Given the description of an element on the screen output the (x, y) to click on. 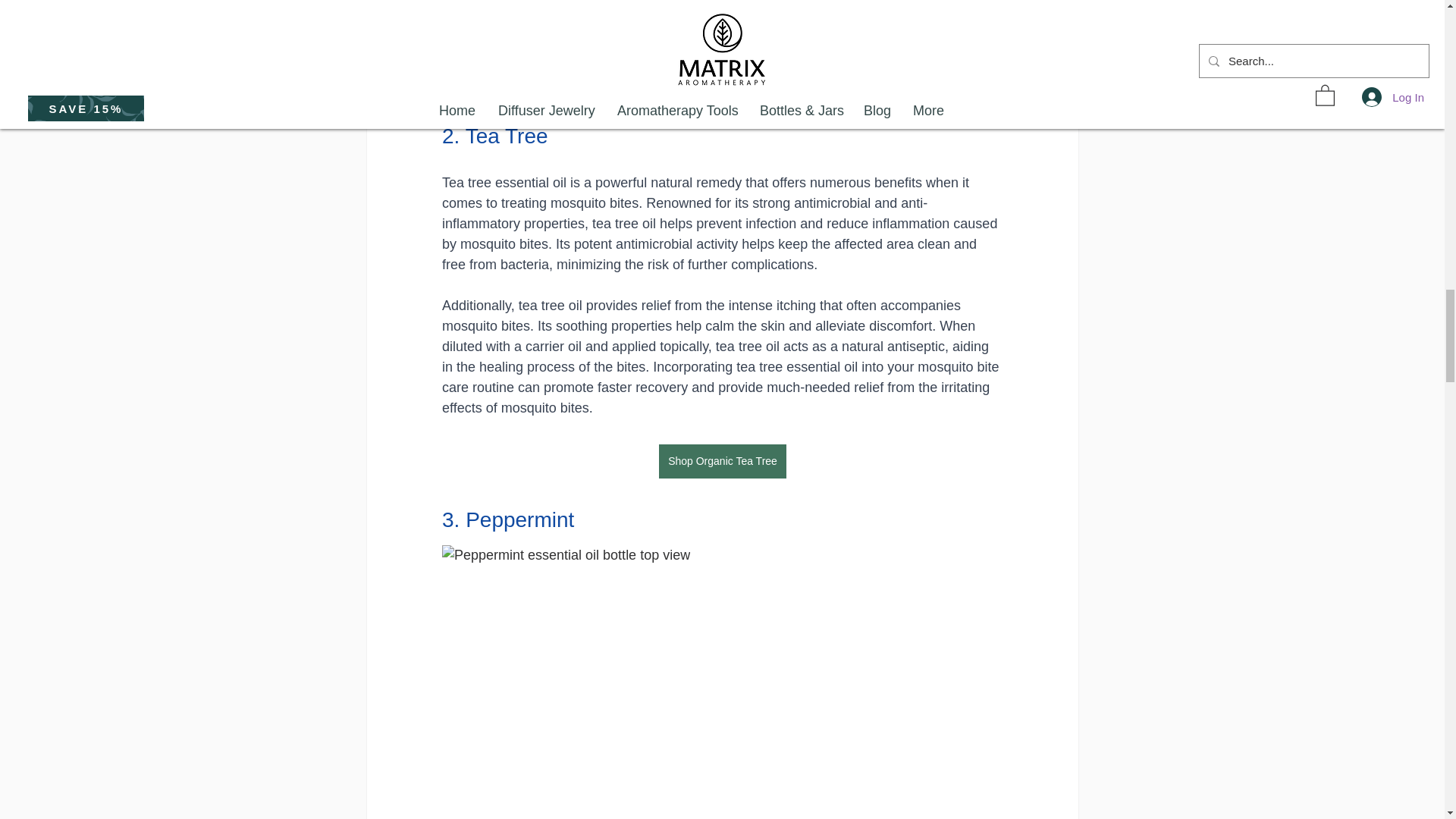
Shop Organic Tea Tree (722, 461)
2. Tea Tree (494, 136)
Shop Organic Lavender (722, 77)
3. Peppermint (507, 519)
